Given the description of an element on the screen output the (x, y) to click on. 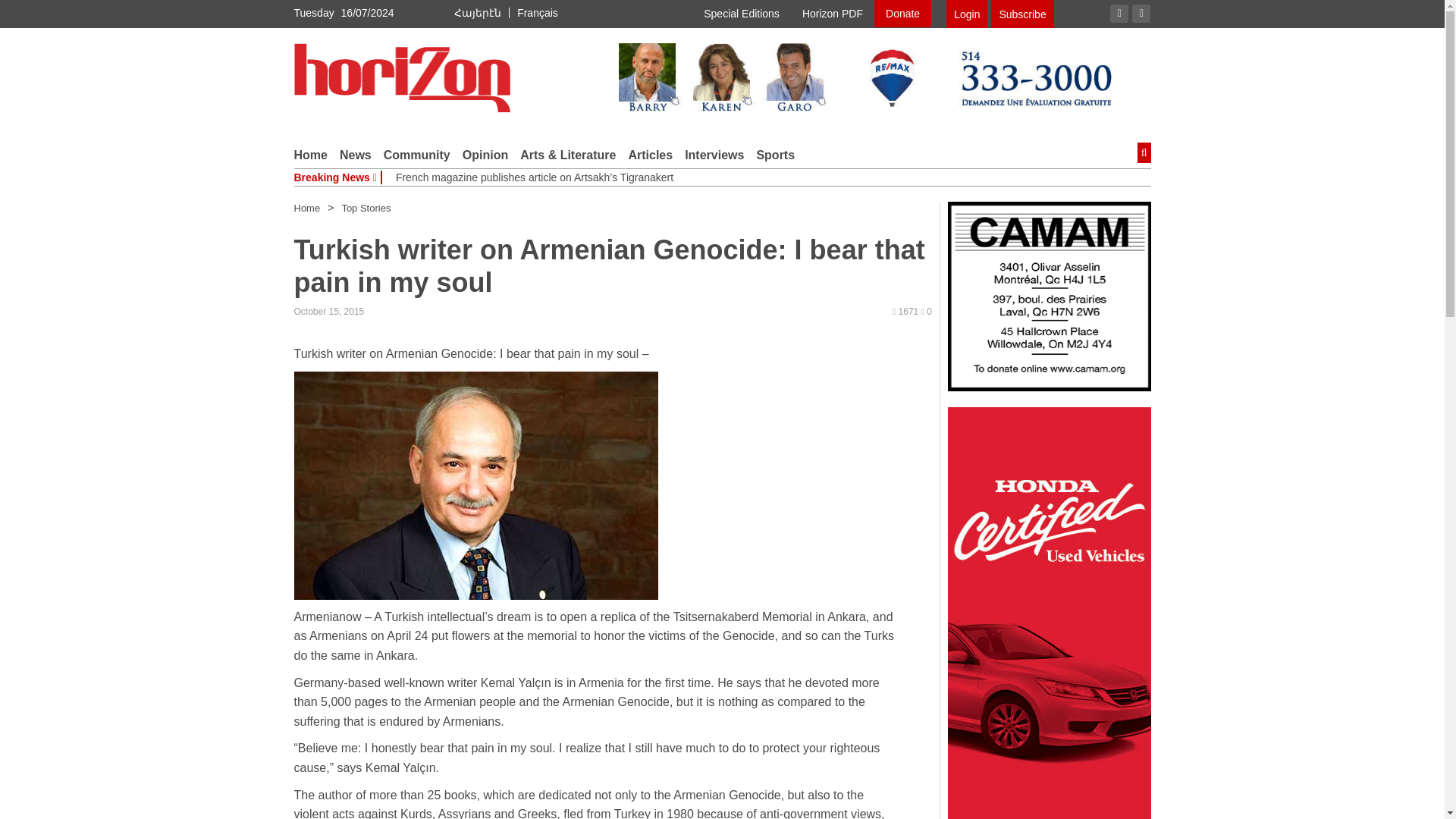
Interviews (714, 155)
Articles (649, 155)
Special Editions (741, 13)
Opinion (485, 155)
Horizon PDF (832, 13)
News (355, 155)
Home (310, 155)
Subscribe (1021, 13)
Home (307, 207)
Community (416, 155)
Sports (774, 155)
Donate (903, 13)
Login (966, 13)
